Given the description of an element on the screen output the (x, y) to click on. 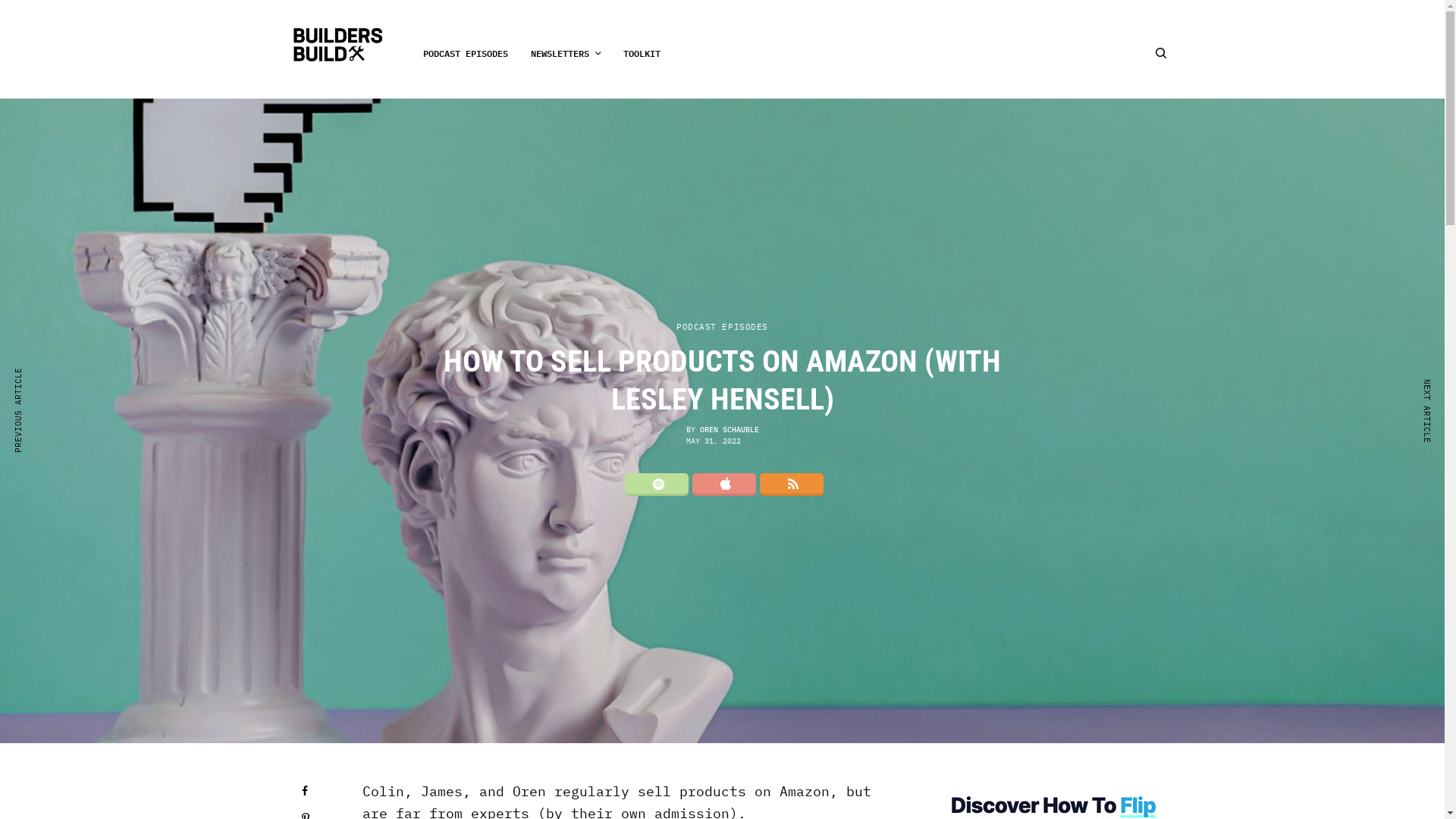
OREN SCHAUBLE Element type: text (728, 429)
PODCAST EPISODES Element type: text (465, 52)
PODCAST EPISODES Element type: text (722, 327)
TOOLKIT Element type: text (641, 52)
Builders Build Element type: hover (338, 45)
NEWSLETTERS Element type: text (565, 52)
